Given the description of an element on the screen output the (x, y) to click on. 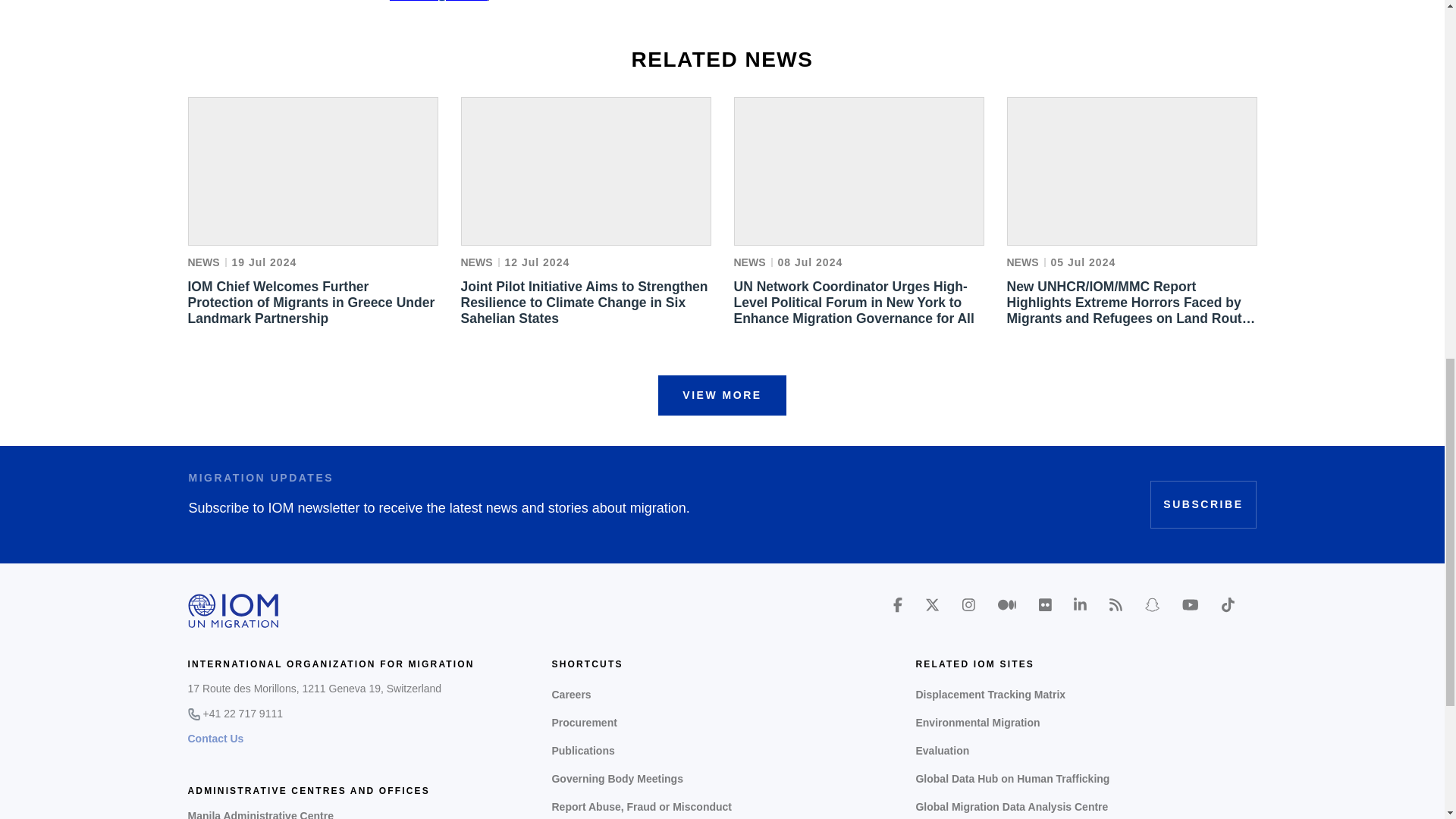
Home (233, 610)
Governing Body Meetings (721, 778)
